Given the description of an element on the screen output the (x, y) to click on. 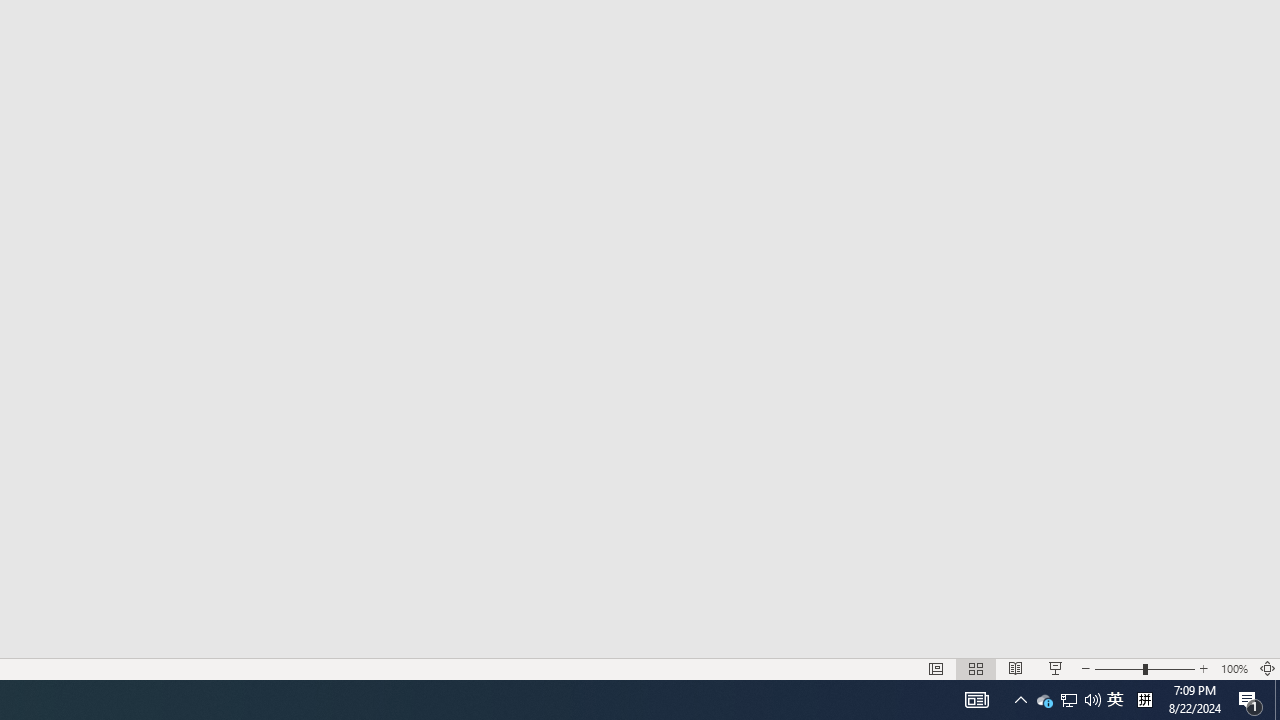
Zoom 100% (1234, 668)
